Given the description of an element on the screen output the (x, y) to click on. 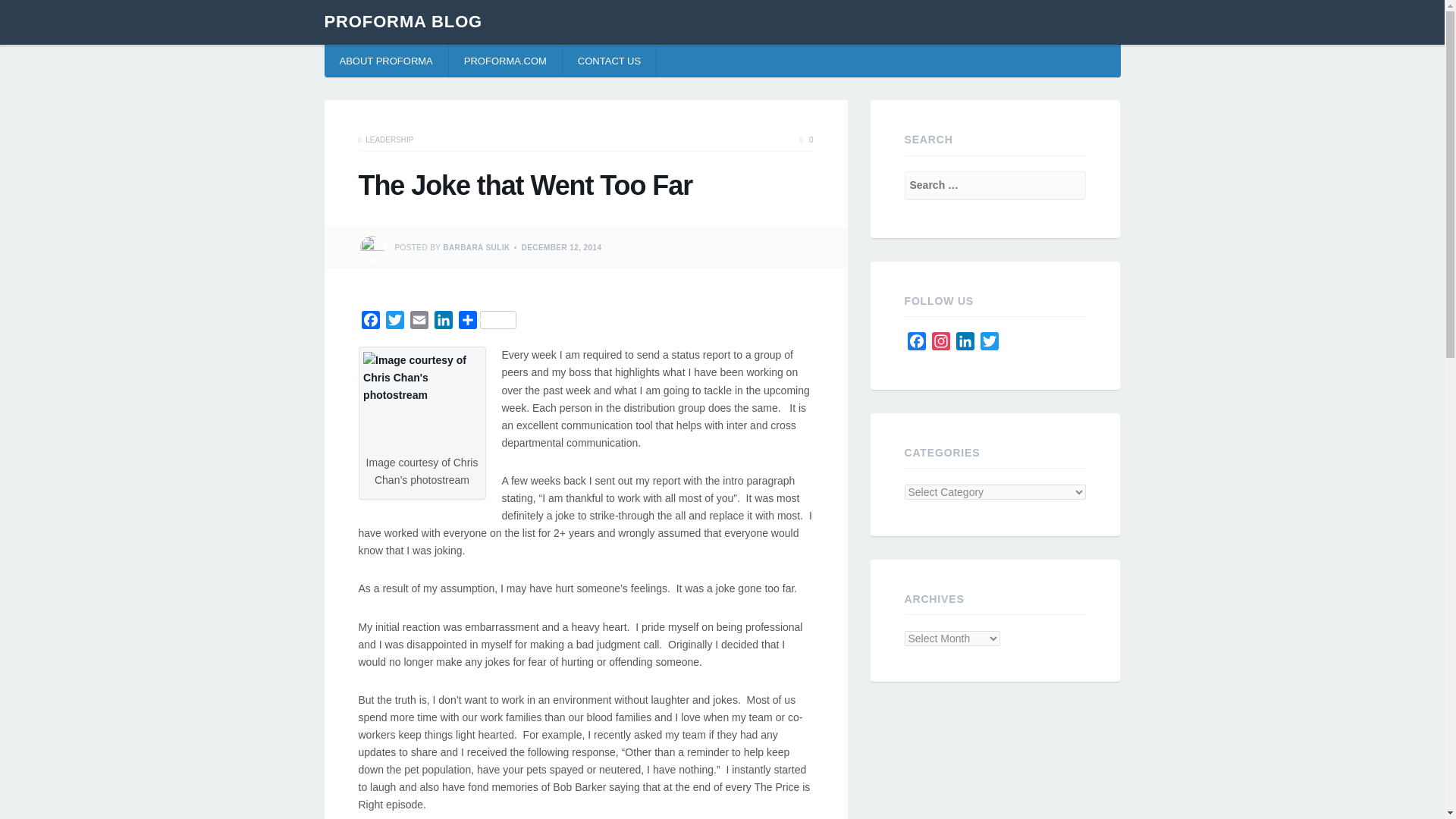
Twitter (393, 322)
Facebook (916, 343)
LinkedIn (442, 322)
Facebook (916, 343)
LinkedIn (964, 343)
LinkedIn Company (964, 343)
BARBARA SULIK (475, 247)
ABOUT PROFORMA (386, 60)
Instagram (940, 343)
CONTACT US (609, 60)
